Given the description of an element on the screen output the (x, y) to click on. 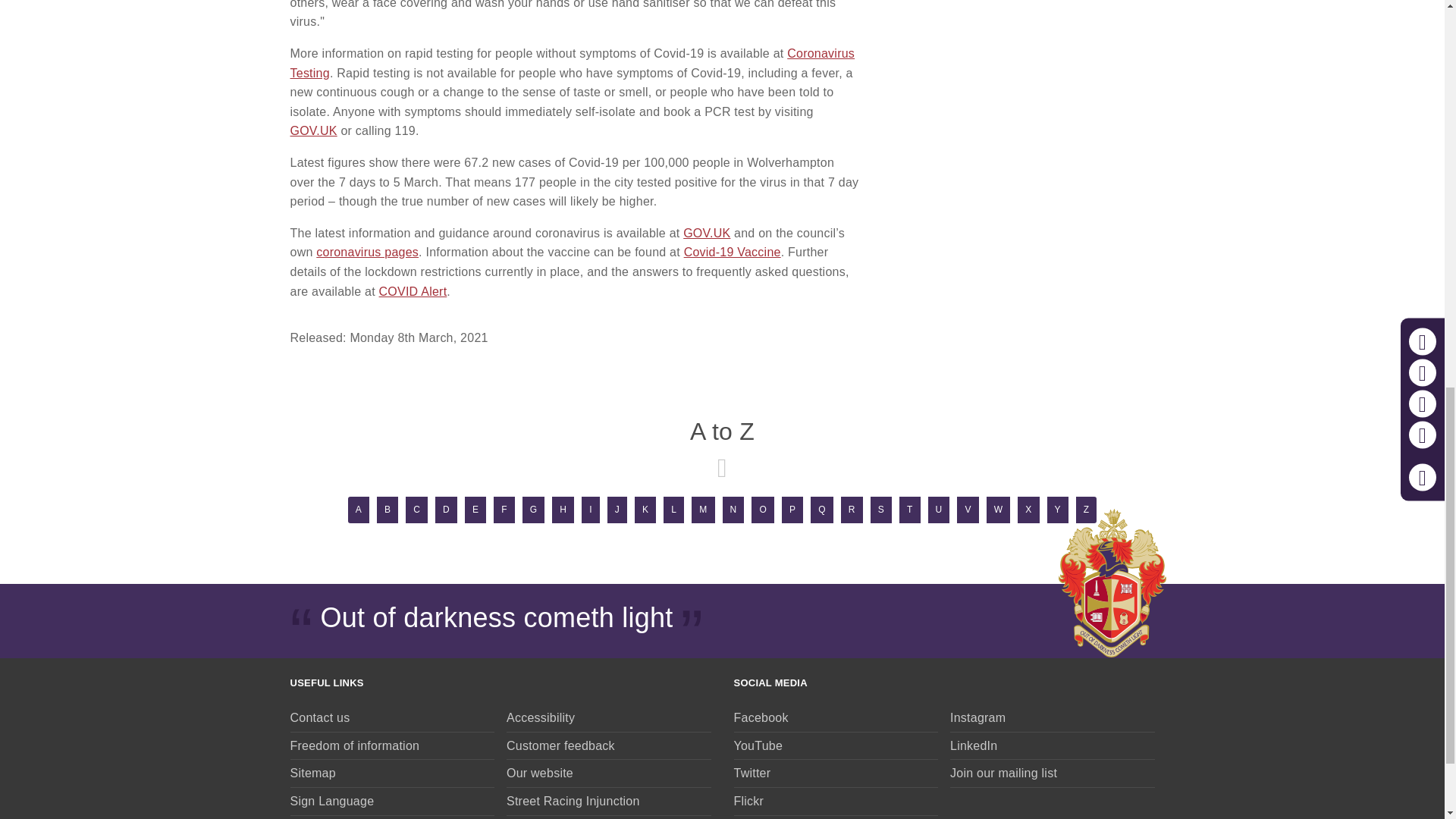
GOV.UK (312, 130)
COVID Alert (412, 291)
GOV.UK (706, 232)
Coronavirus Testing (571, 62)
coronavirus pages (367, 251)
Covid-19 Vaccine (732, 251)
